Given the description of an element on the screen output the (x, y) to click on. 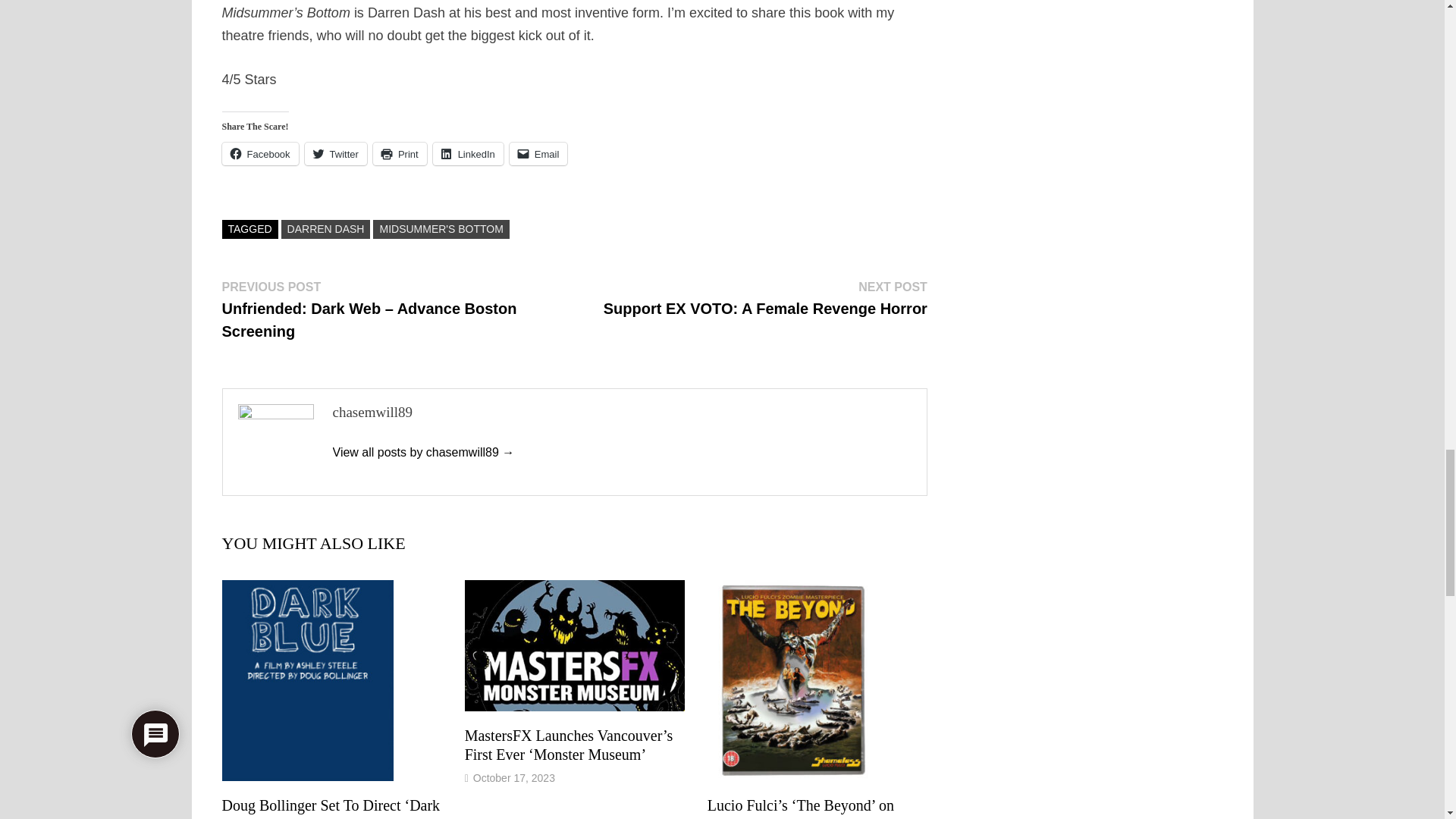
Click to share on Facebook (259, 153)
Click to share on Twitter (335, 153)
chasemwill89 (422, 451)
Click to share on LinkedIn (467, 153)
Click to print (399, 153)
Click to email a link to a friend (538, 153)
